Given the description of an element on the screen output the (x, y) to click on. 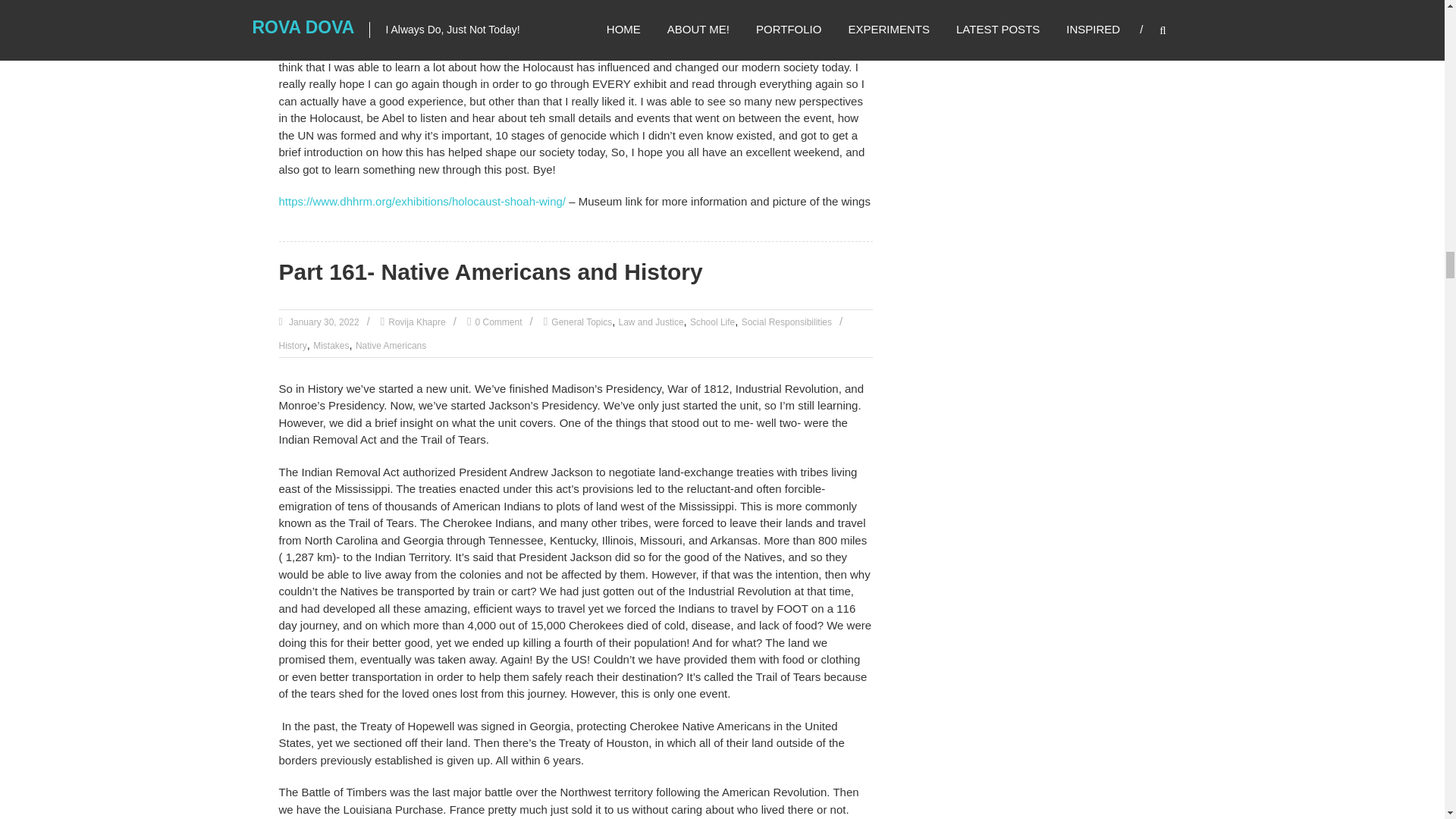
Part 161- Native Americans and History (491, 271)
Rovija Khapre (416, 321)
5:19 am (322, 321)
